Given the description of an element on the screen output the (x, y) to click on. 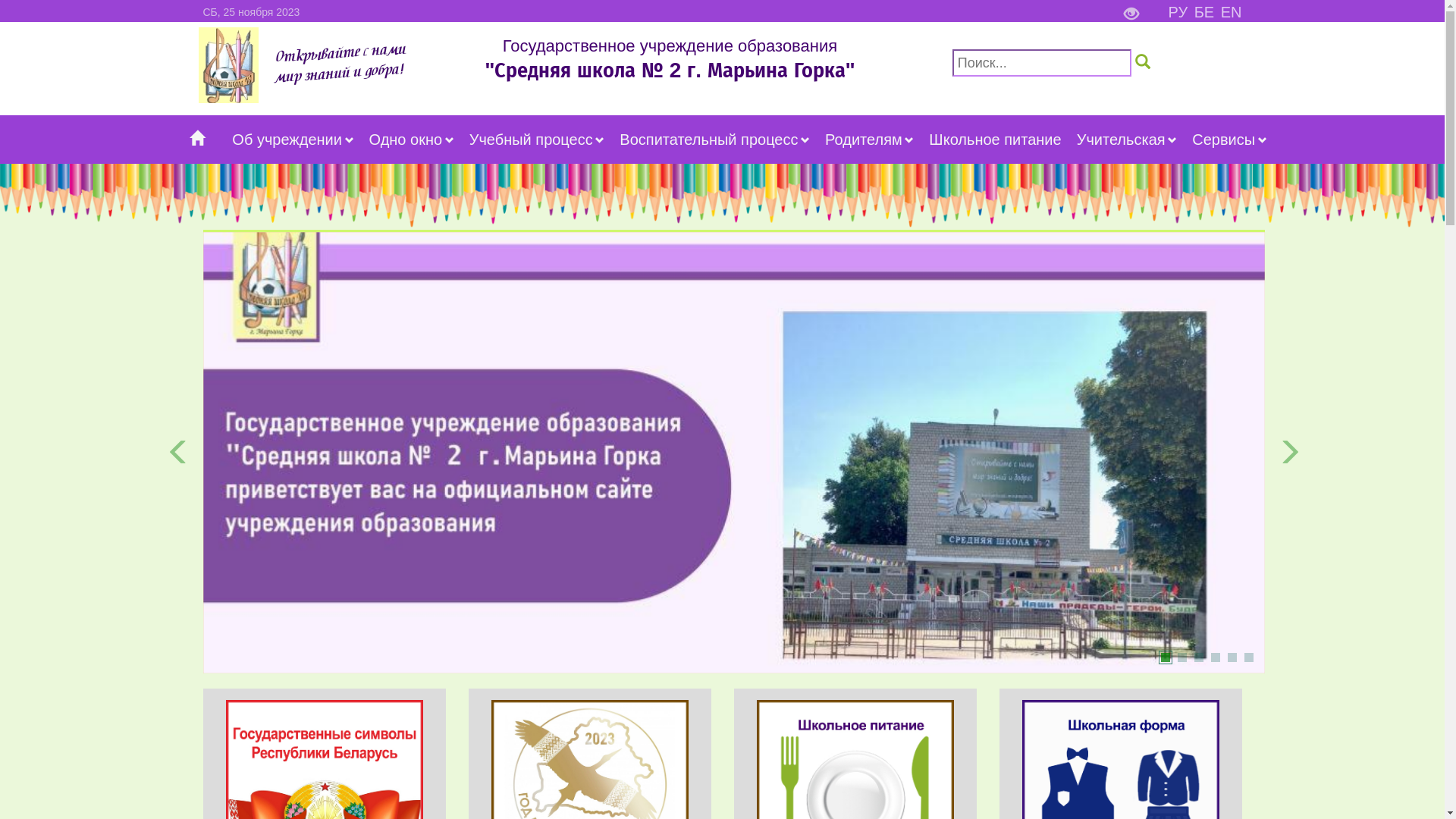
1 Element type: text (1164, 657)
2 Element type: text (1181, 657)
4 Element type: text (1214, 657)
5 Element type: text (1231, 657)
6 Element type: text (1247, 657)
EN Element type: text (1231, 12)
3 Element type: text (1197, 657)
